Given the description of an element on the screen output the (x, y) to click on. 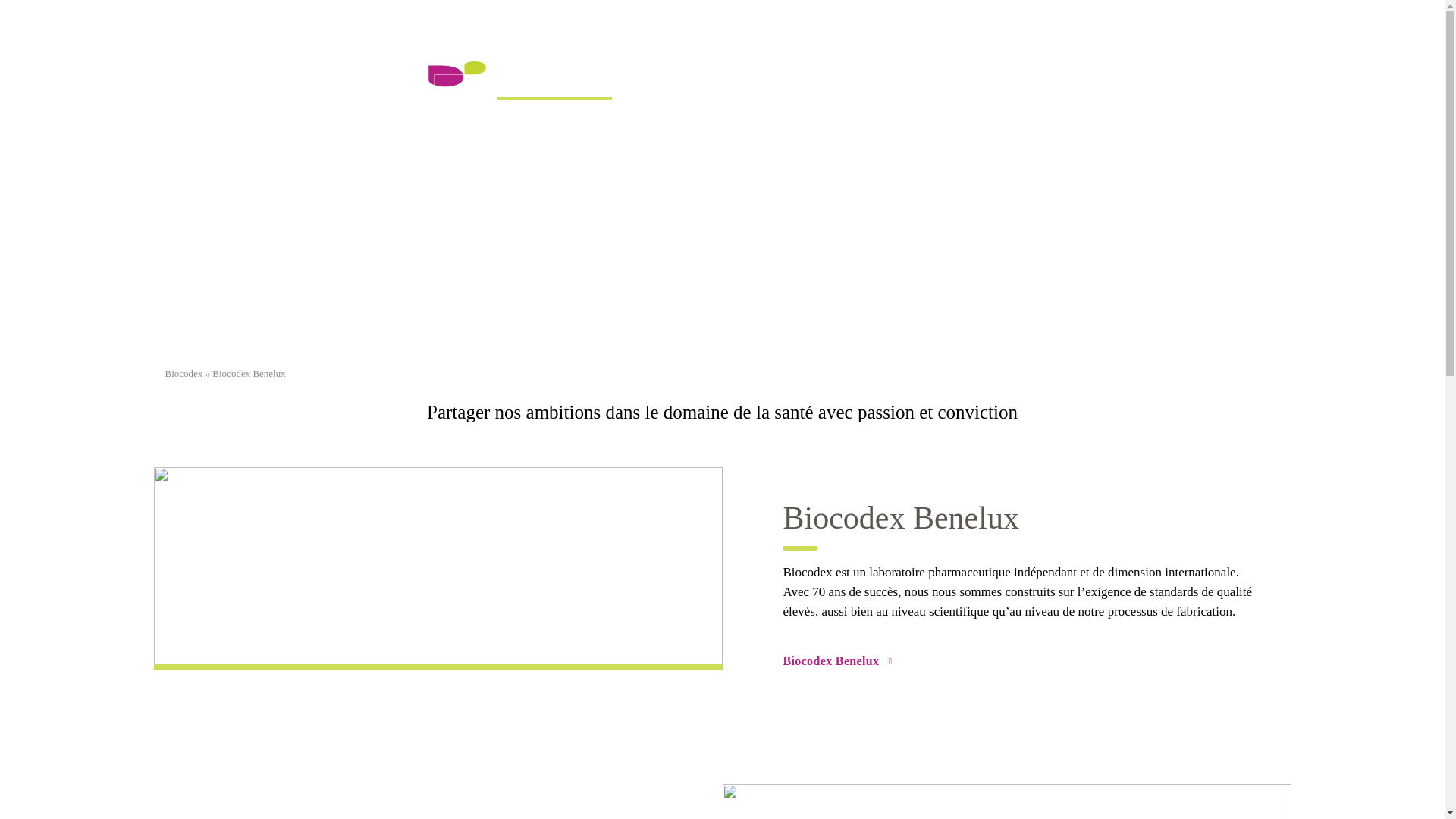
NOS PRODUITS Element type: text (788, 80)
INTERNATIONAL Element type: text (679, 80)
SEARCH Element type: text (1158, 79)
FR Element type: text (435, 34)
Biocodex Element type: text (184, 373)
BIOCODEX BENELUX Element type: text (554, 73)
Biocodex Benelux Element type: hover (437, 578)
Biocodex Benelux Element type: text (348, 30)
LIFE @BIOCODEX Element type: text (900, 80)
